Given the description of an element on the screen output the (x, y) to click on. 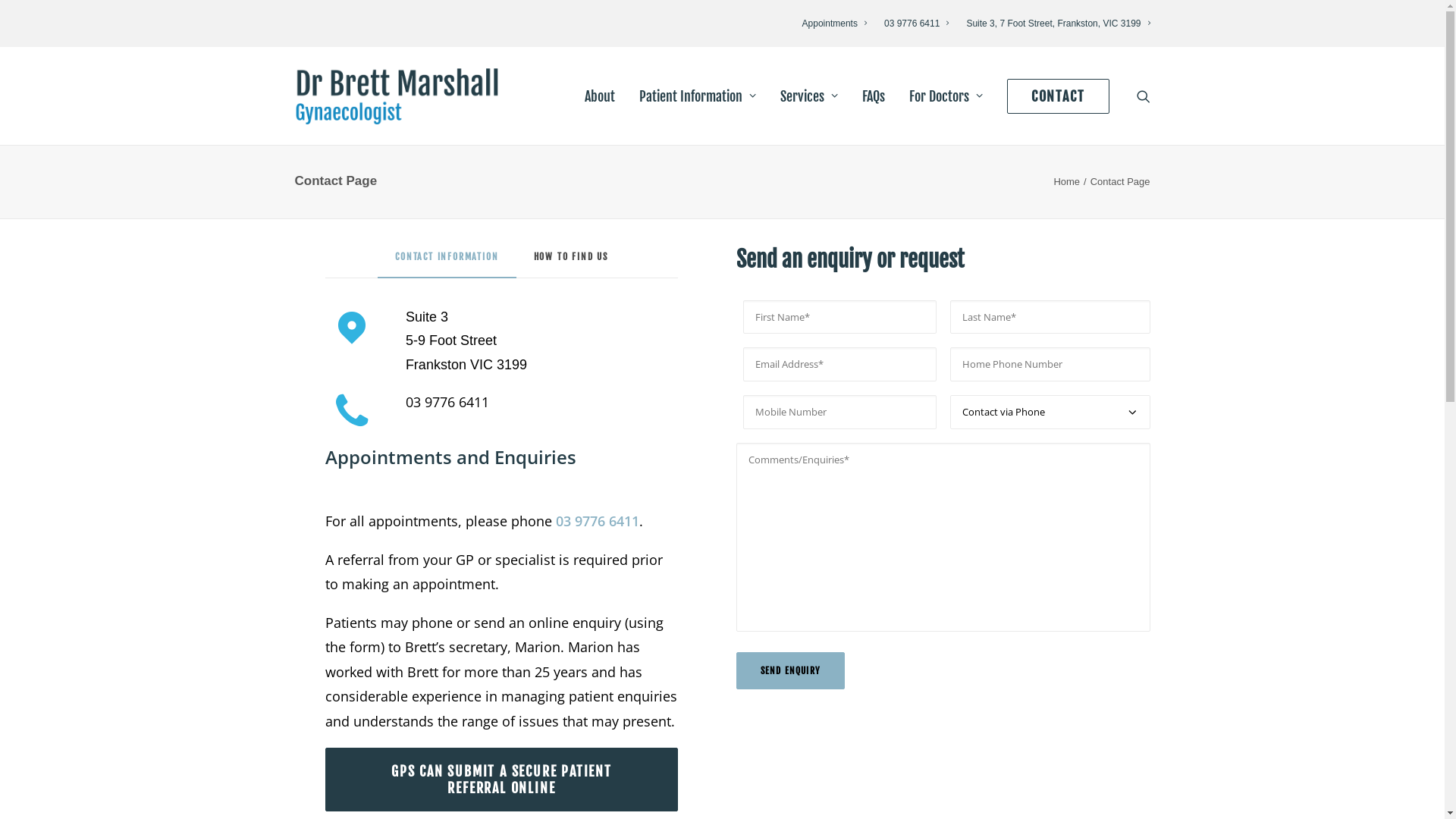
03 9776 6411 Element type: text (597, 520)
Services Element type: text (808, 95)
Suite 3, 7 Foot Street, Frankston, VIC 3199 Element type: text (1054, 23)
For Doctors Element type: text (945, 95)
HOW TO FIND US Element type: text (569, 261)
Send Enquiry Element type: text (789, 670)
CONTACT INFORMATION Element type: text (446, 262)
Appointments Element type: text (837, 23)
GPS CAN SUBMIT A SECURE PATIENT REFERRAL ONLINE Element type: text (501, 779)
Home Element type: text (1066, 181)
About Element type: text (599, 95)
CONTACT Element type: text (1052, 95)
03 9776 6411 Element type: text (916, 23)
Patient Information Element type: text (697, 95)
FAQs Element type: text (873, 95)
